Given the description of an element on the screen output the (x, y) to click on. 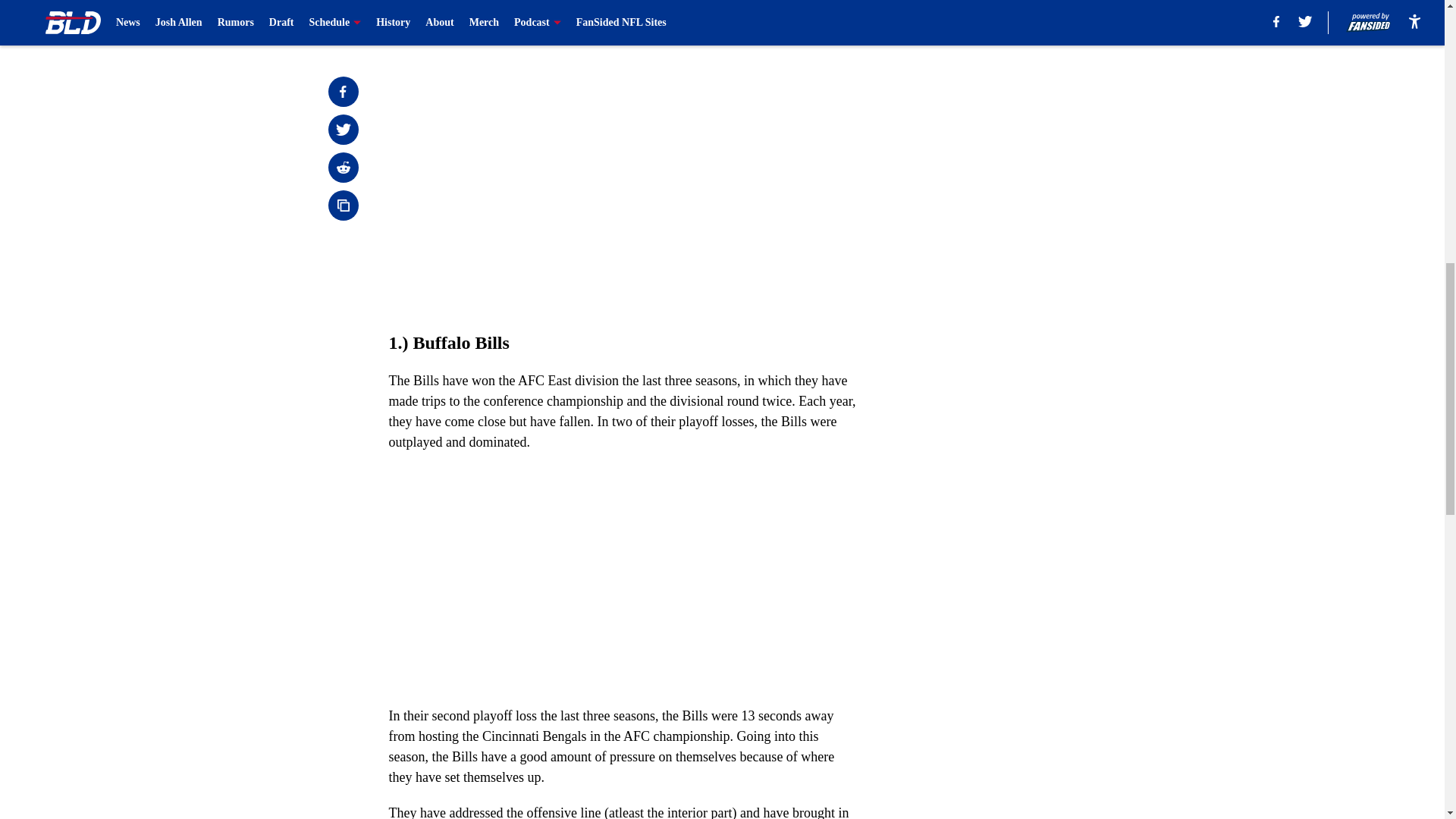
Next (813, 20)
Prev (433, 20)
